Given the description of an element on the screen output the (x, y) to click on. 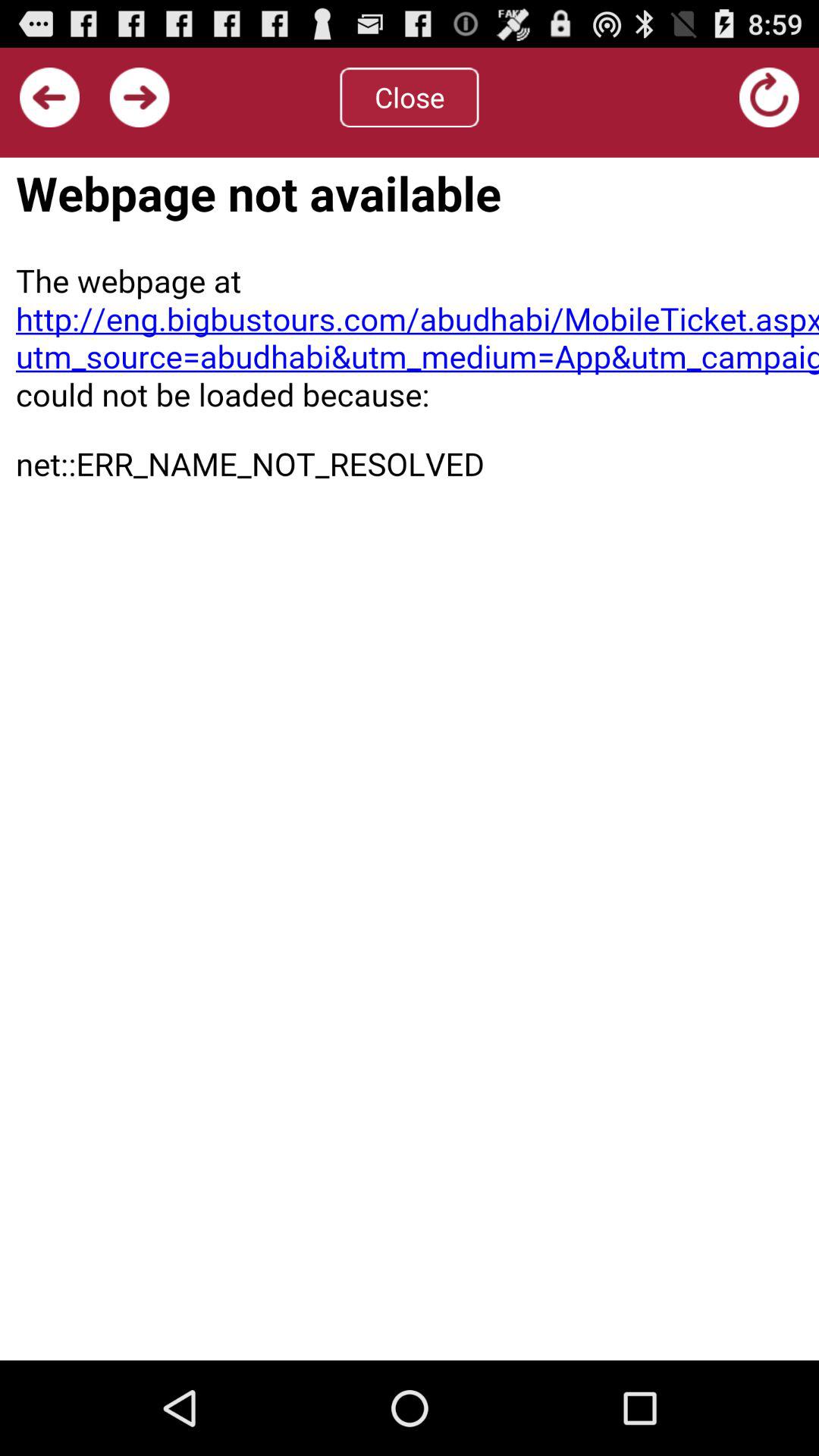
go to repeat (769, 97)
